Given the description of an element on the screen output the (x, y) to click on. 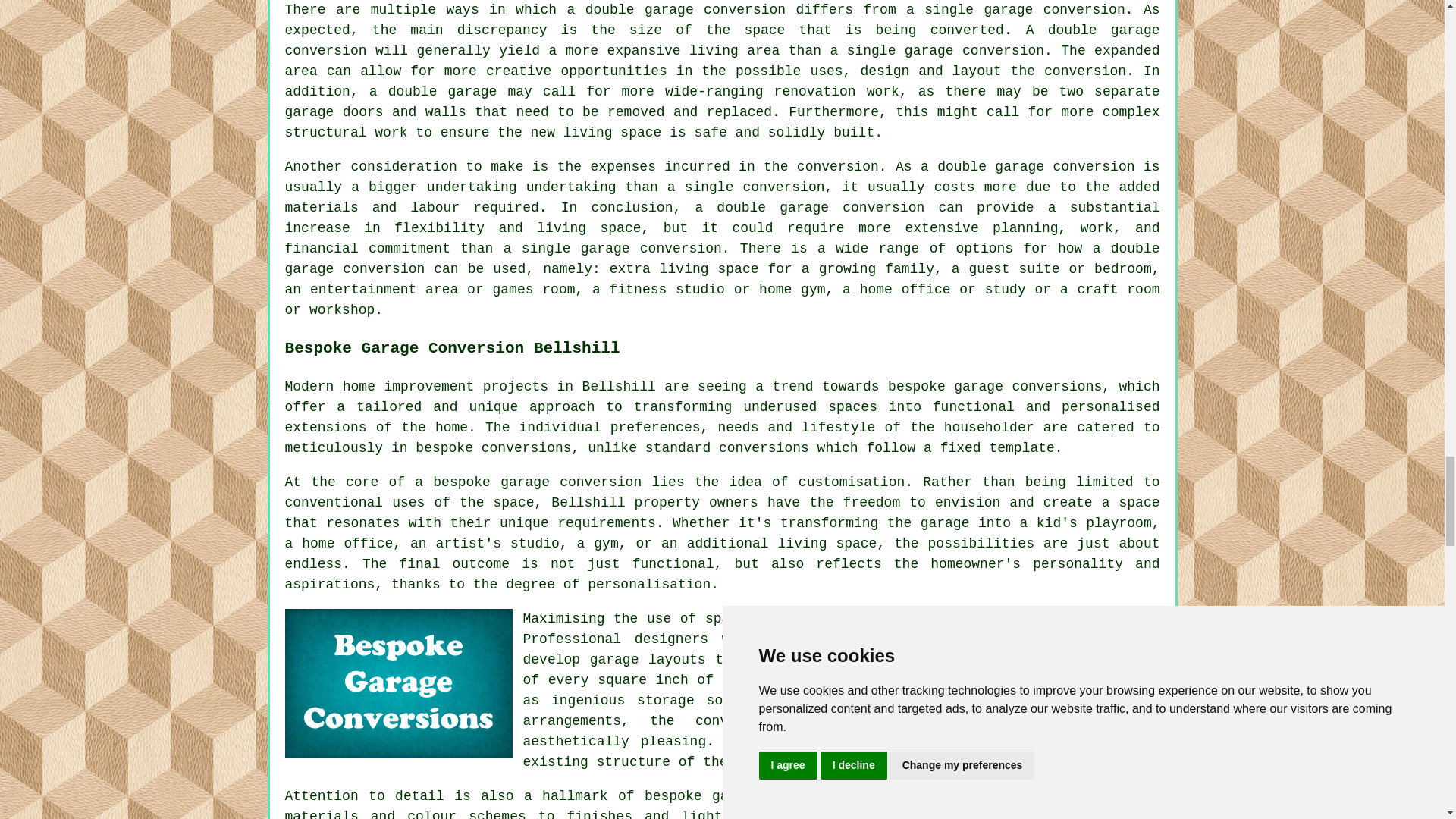
bespoke garage conversion (537, 482)
double garage conversion (722, 40)
Bespoke Garage Conversion Bellshill (398, 683)
